Given the description of an element on the screen output the (x, y) to click on. 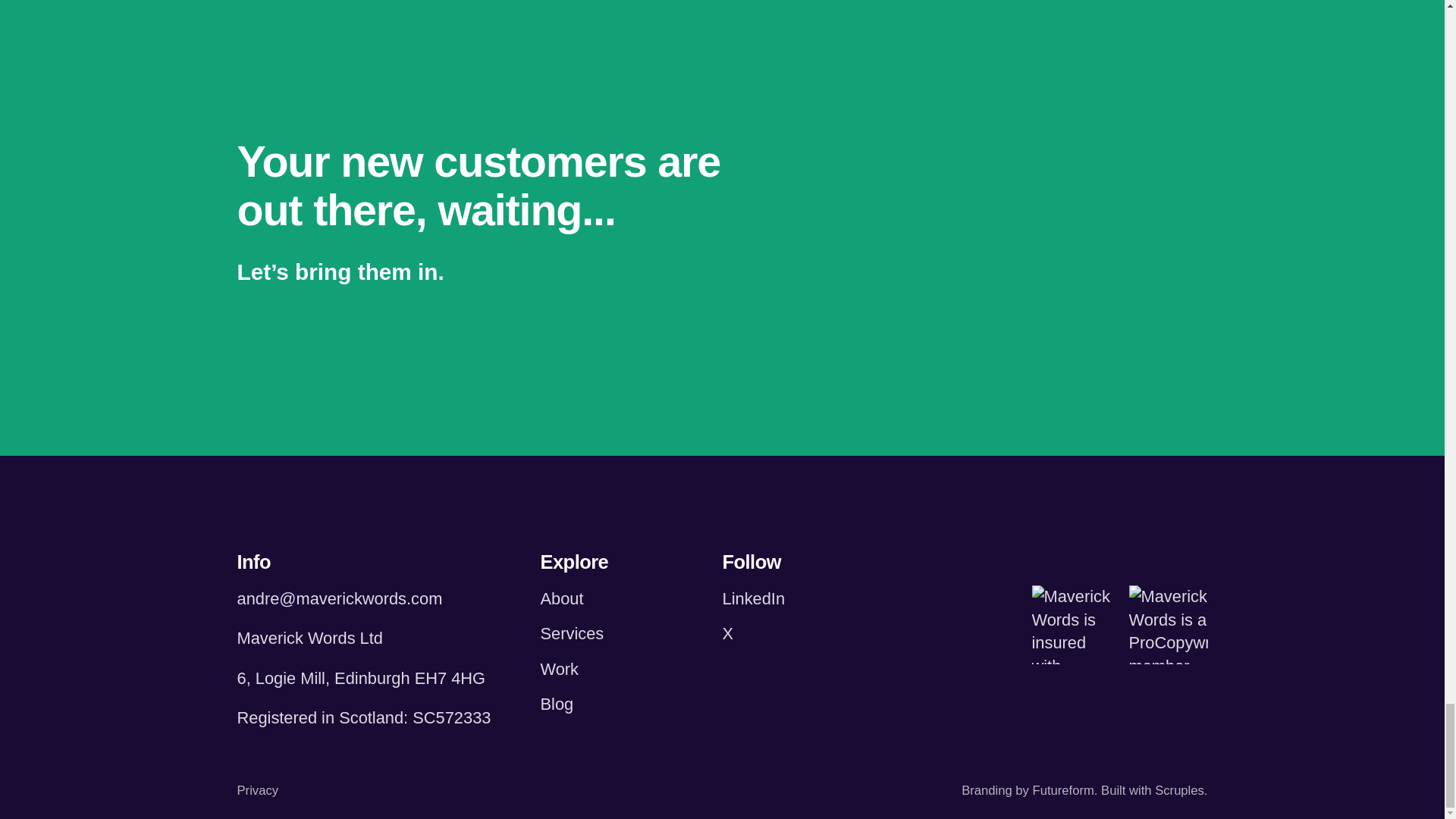
Built with Scruples. (1153, 789)
Work (559, 669)
Blog (556, 703)
LinkedIn (753, 598)
About (561, 598)
Privacy (256, 789)
Services (572, 633)
Branding by Futureform. (1028, 789)
